Given the description of an element on the screen output the (x, y) to click on. 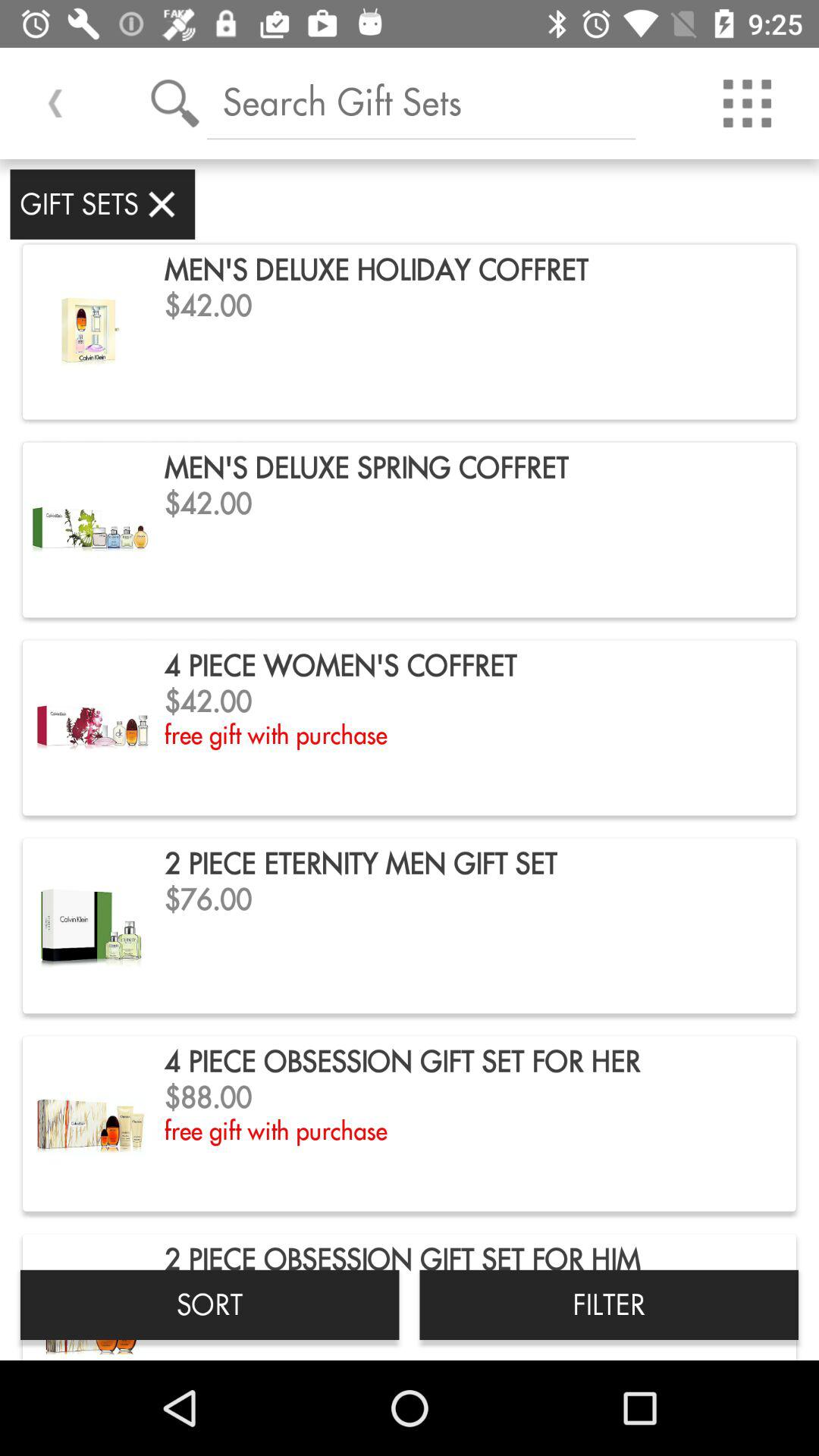
tap the filter icon (608, 1304)
